Given the description of an element on the screen output the (x, y) to click on. 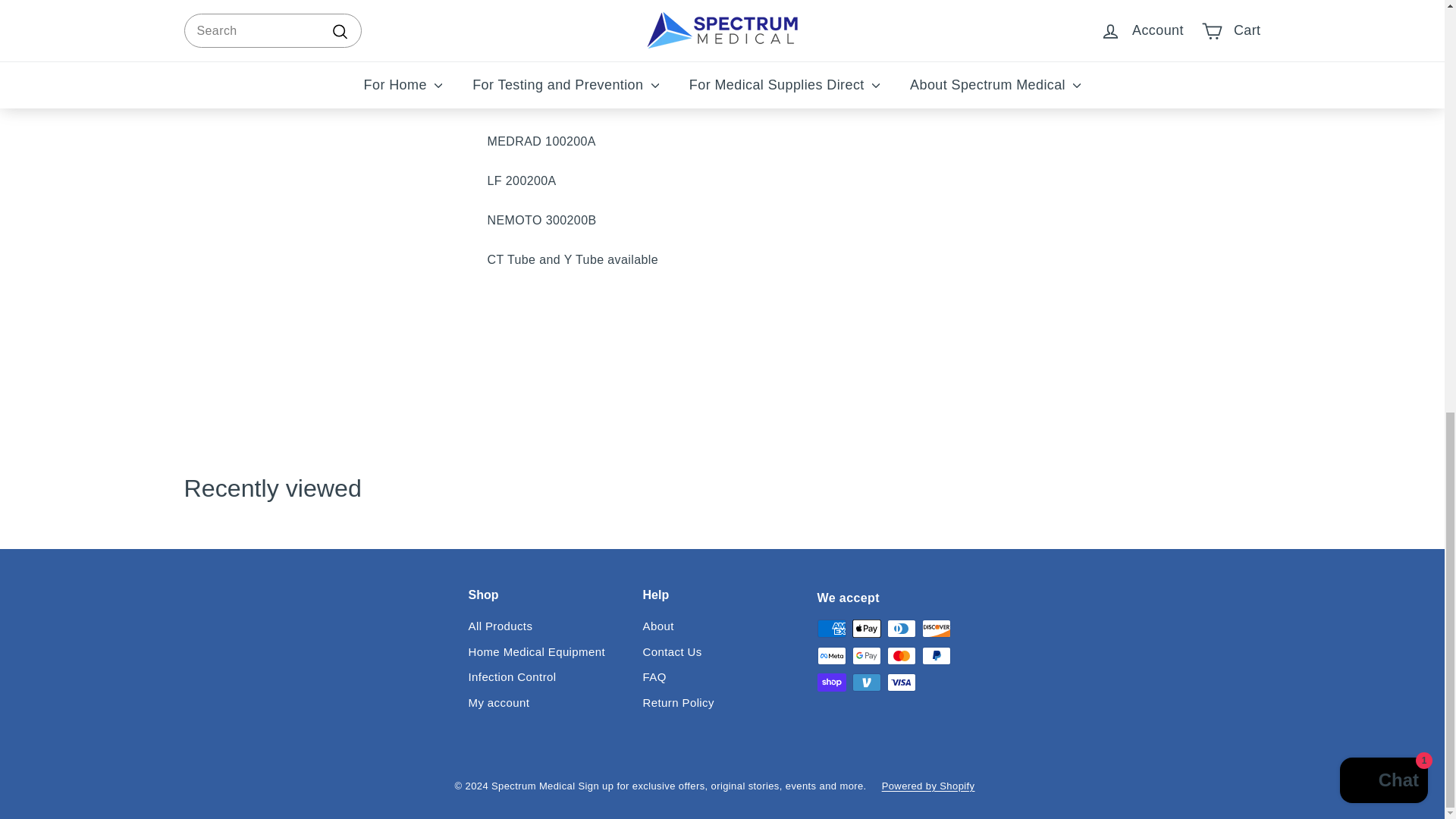
Apple Pay (865, 628)
PayPal (935, 656)
Diners Club (900, 628)
Mastercard (900, 656)
Venmo (865, 682)
Discover (935, 628)
Google Pay (865, 656)
American Express (830, 628)
Shop Pay (830, 682)
Visa (900, 682)
Meta Pay (830, 656)
